Given the description of an element on the screen output the (x, y) to click on. 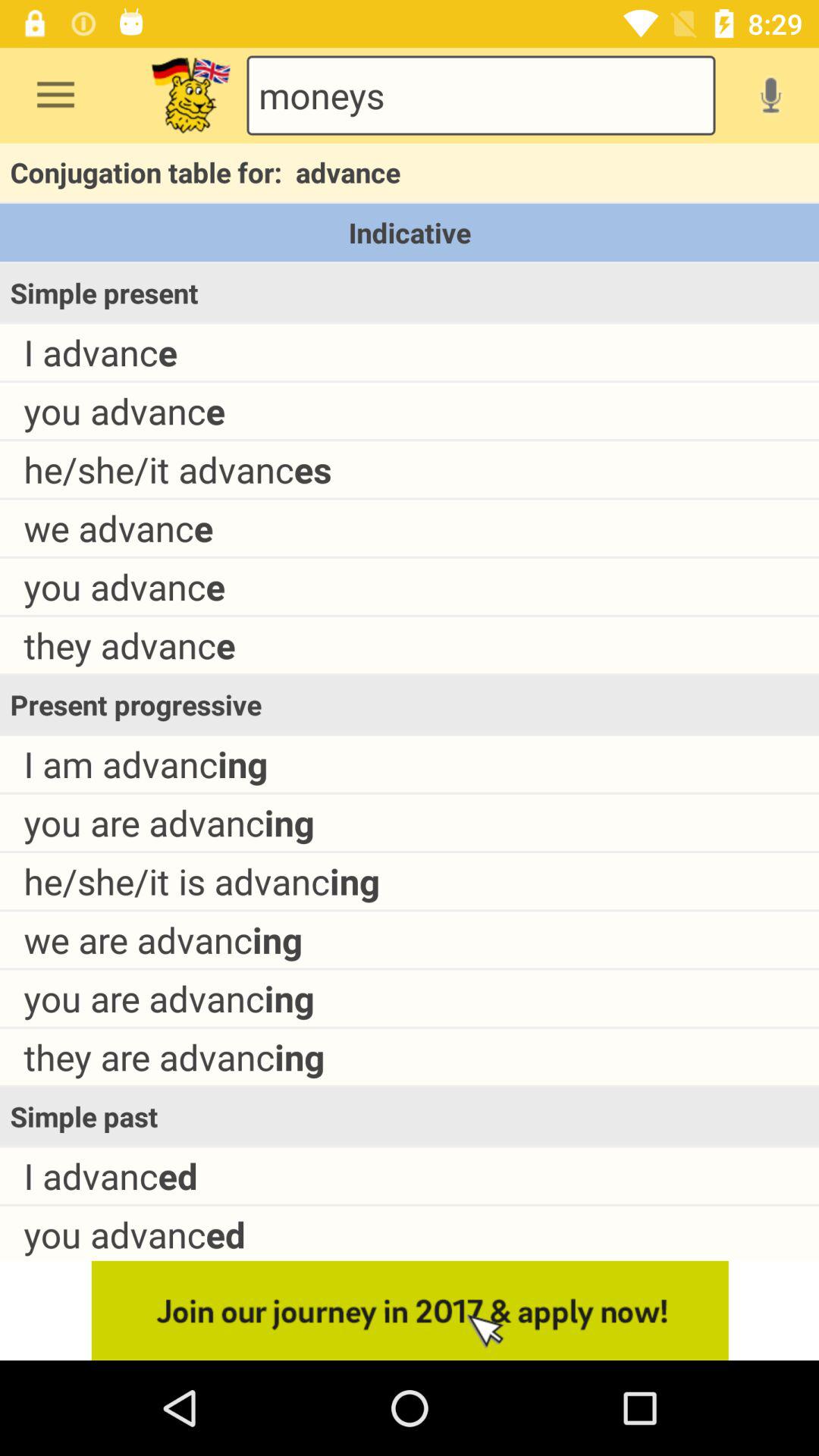
enable voice search (770, 94)
